Given the description of an element on the screen output the (x, y) to click on. 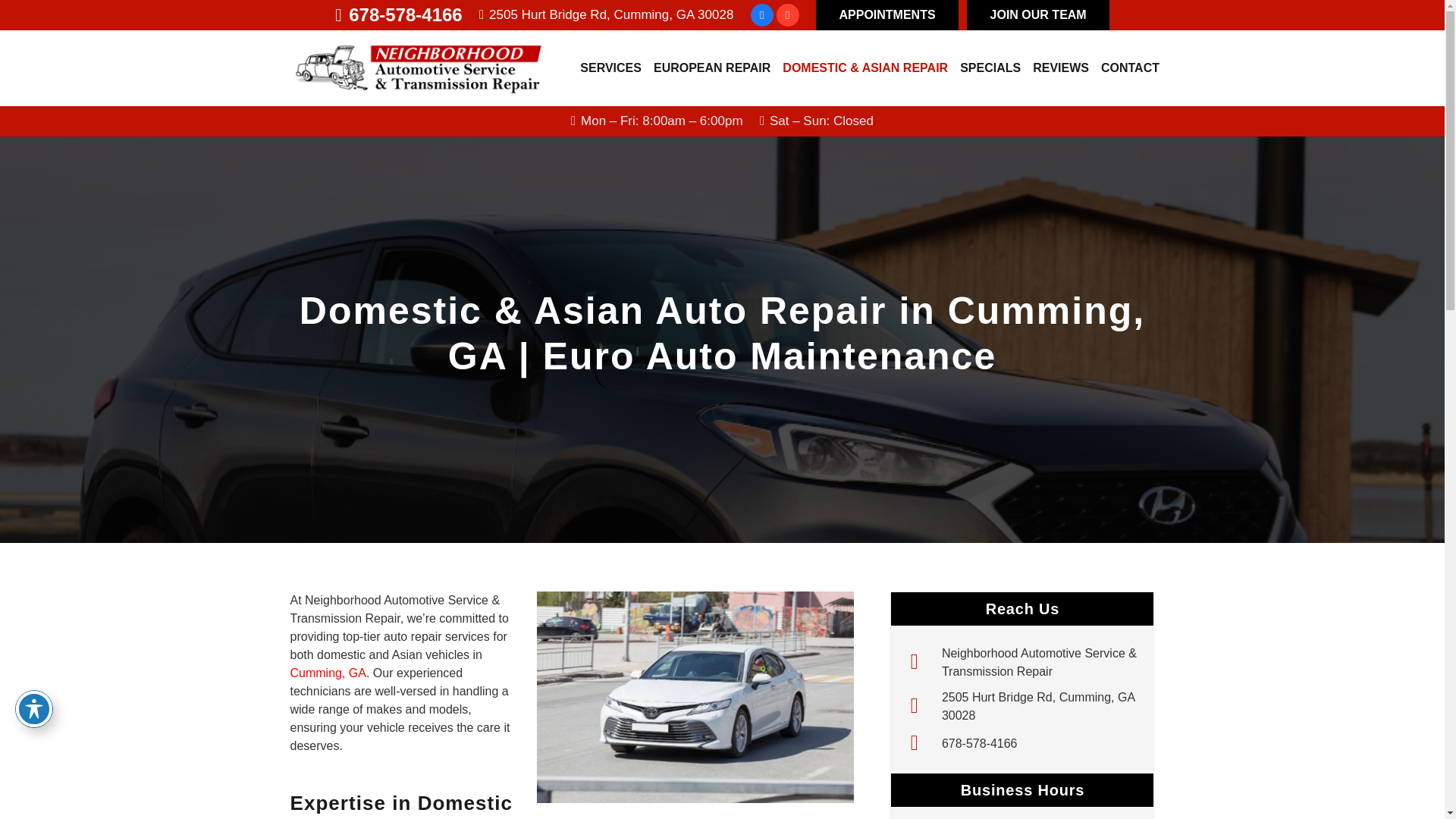
JOIN OUR TEAM (1037, 15)
SERVICES (610, 67)
Facebook (762, 15)
2505 Hurt Bridge Rd, Cumming, GA 30028 (606, 14)
EUROPEAN REPAIR (711, 67)
678-578-4166 (398, 14)
APPOINTMENTS (886, 15)
Home (1042, 662)
Home (921, 662)
Google (787, 15)
